Given the description of an element on the screen output the (x, y) to click on. 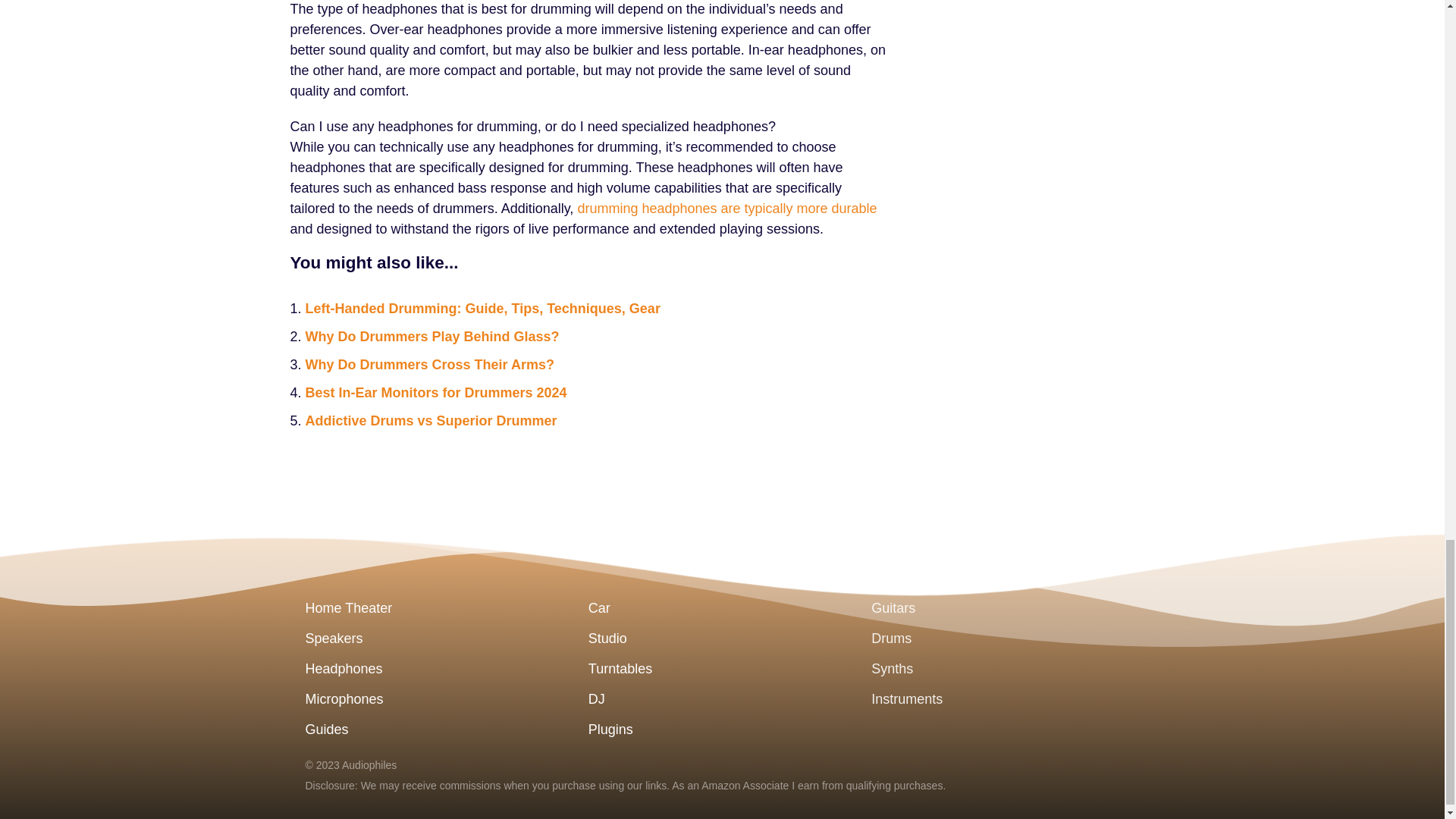
Why Do Drummers Play Behind Glass? (431, 336)
Left-Handed Drumming: Guide, Tips, Techniques, Gear (481, 307)
drumming headphones are typically more durable (726, 208)
Addictive Drums vs Superior Drummer (430, 419)
Why Do Drummers Play Behind Glass? (431, 336)
Addictive Drums vs Superior Drummer (430, 419)
Best In-Ear Monitors for Drummers 2024 (435, 392)
Left-Handed Drumming: Guide, Tips, Techniques, Gear (481, 307)
Best In-Ear Monitors for Drummers 2024 (435, 392)
Why Do Drummers Cross Their Arms? (428, 363)
Why Do Drummers Cross Their Arms? (428, 363)
